Given the description of an element on the screen output the (x, y) to click on. 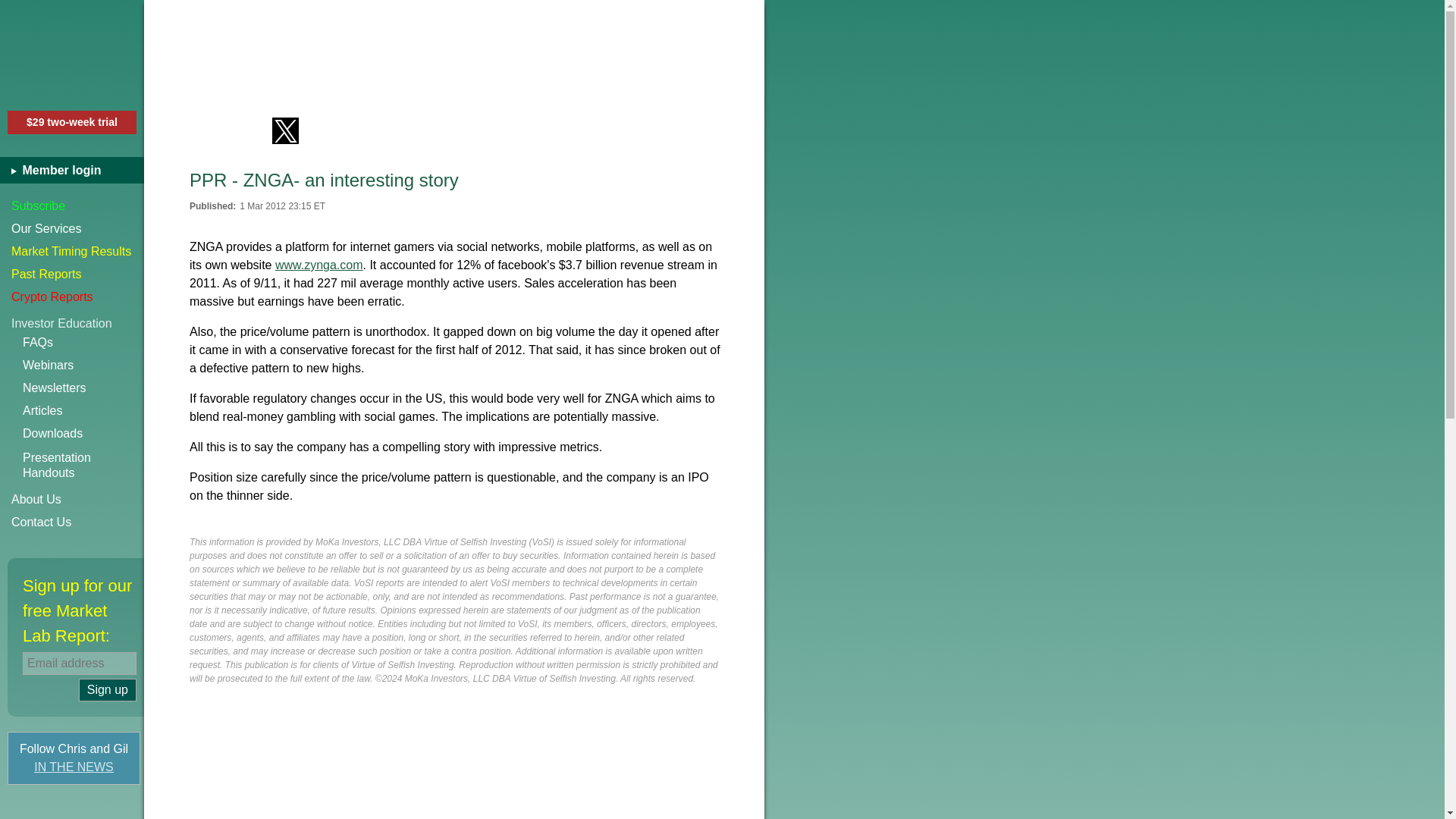
Facebook (202, 130)
Newsletters (83, 387)
IN THE NEWS (74, 767)
Articles (83, 410)
Member login (83, 465)
Market Timing Results (77, 170)
FAQs (72, 251)
Webinars (83, 342)
Contact Us (83, 364)
Sign up (72, 522)
Subscribe (107, 689)
Sign up (72, 205)
About Us (107, 689)
Crypto Reports (72, 499)
